Given the description of an element on the screen output the (x, y) to click on. 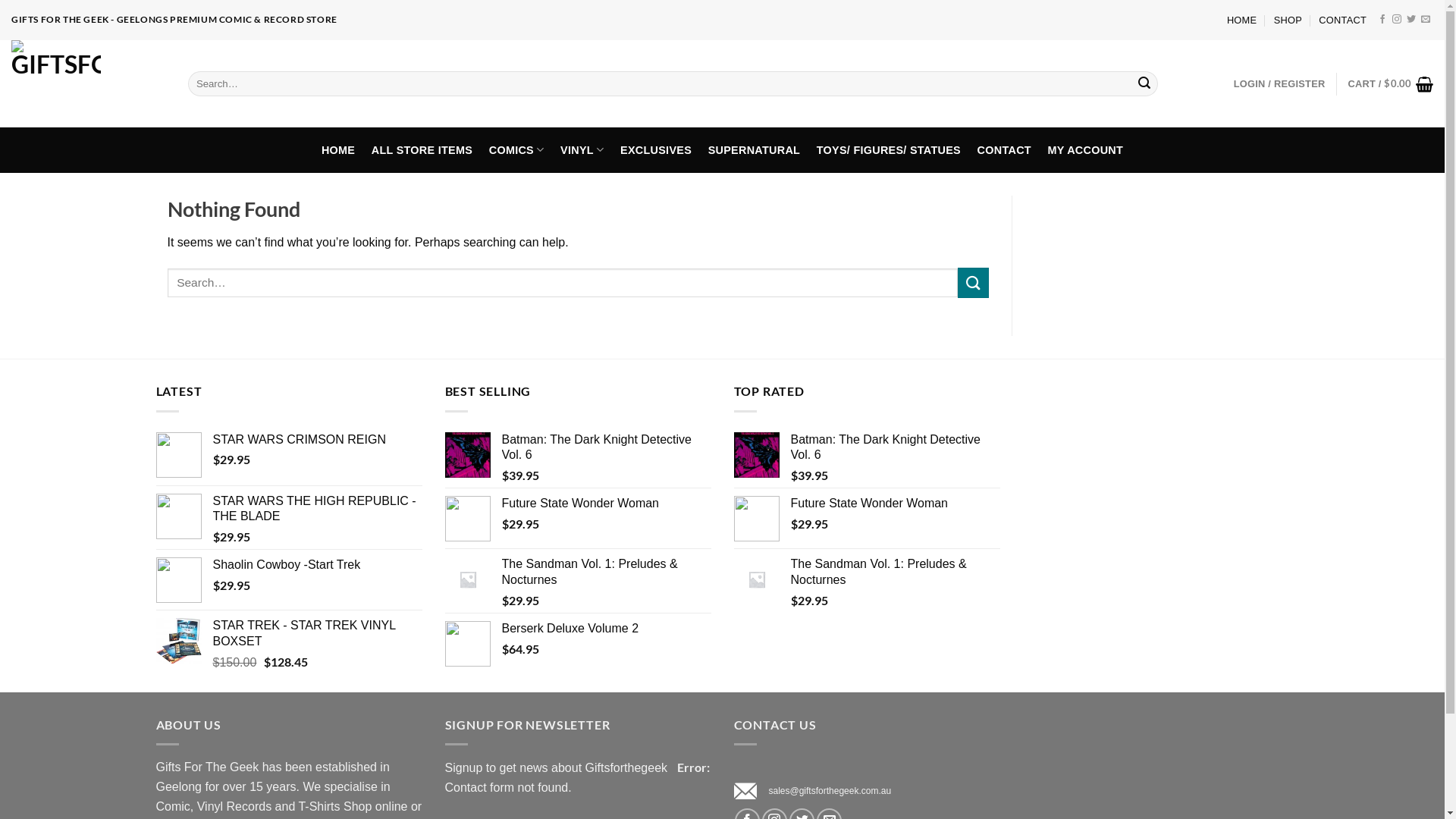
ALL STORE ITEMS Element type: text (421, 149)
CART / $0.00 Element type: text (1390, 83)
Send us an email Element type: hover (1425, 19)
Batman: The Dark Knight Detective Vol. 6 Element type: text (606, 448)
VINYL Element type: text (581, 149)
CONTACT Element type: text (1342, 20)
SUPERNATURAL Element type: text (753, 149)
SHOP Element type: text (1288, 20)
Follow on Instagram Element type: hover (1396, 19)
Future State Wonder Woman Element type: text (606, 503)
LOGIN / REGISTER Element type: text (1279, 83)
Follow on Facebook Element type: hover (1381, 19)
Shaolin Cowboy -Start Trek Element type: text (316, 565)
EXCLUSIVES Element type: text (655, 149)
Future State Wonder Woman Element type: text (894, 503)
STAR WARS THE HIGH REPUBLIC - THE BLADE Element type: text (316, 509)
STAR TREK - STAR TREK VINYL BOXSET Element type: text (316, 633)
HOME Element type: text (338, 149)
HOME Element type: text (1241, 20)
sales@giftsforthegeek.com.au Element type: text (829, 790)
Batman: The Dark Knight Detective Vol. 6 Element type: text (894, 448)
MY ACCOUNT Element type: text (1085, 149)
The Sandman Vol. 1: Preludes & Nocturnes Element type: text (606, 572)
The Sandman Vol. 1: Preludes & Nocturnes Element type: text (894, 572)
Search Element type: text (1144, 84)
COMICS Element type: text (516, 149)
Berserk Deluxe Volume 2 Element type: text (606, 629)
CONTACT Element type: text (1004, 149)
giftsforthegeek Element type: hover (88, 83)
STAR WARS CRIMSON REIGN Element type: text (316, 440)
Follow on Twitter Element type: hover (1410, 19)
TOYS/ FIGURES/ STATUES Element type: text (888, 149)
